Given the description of an element on the screen output the (x, y) to click on. 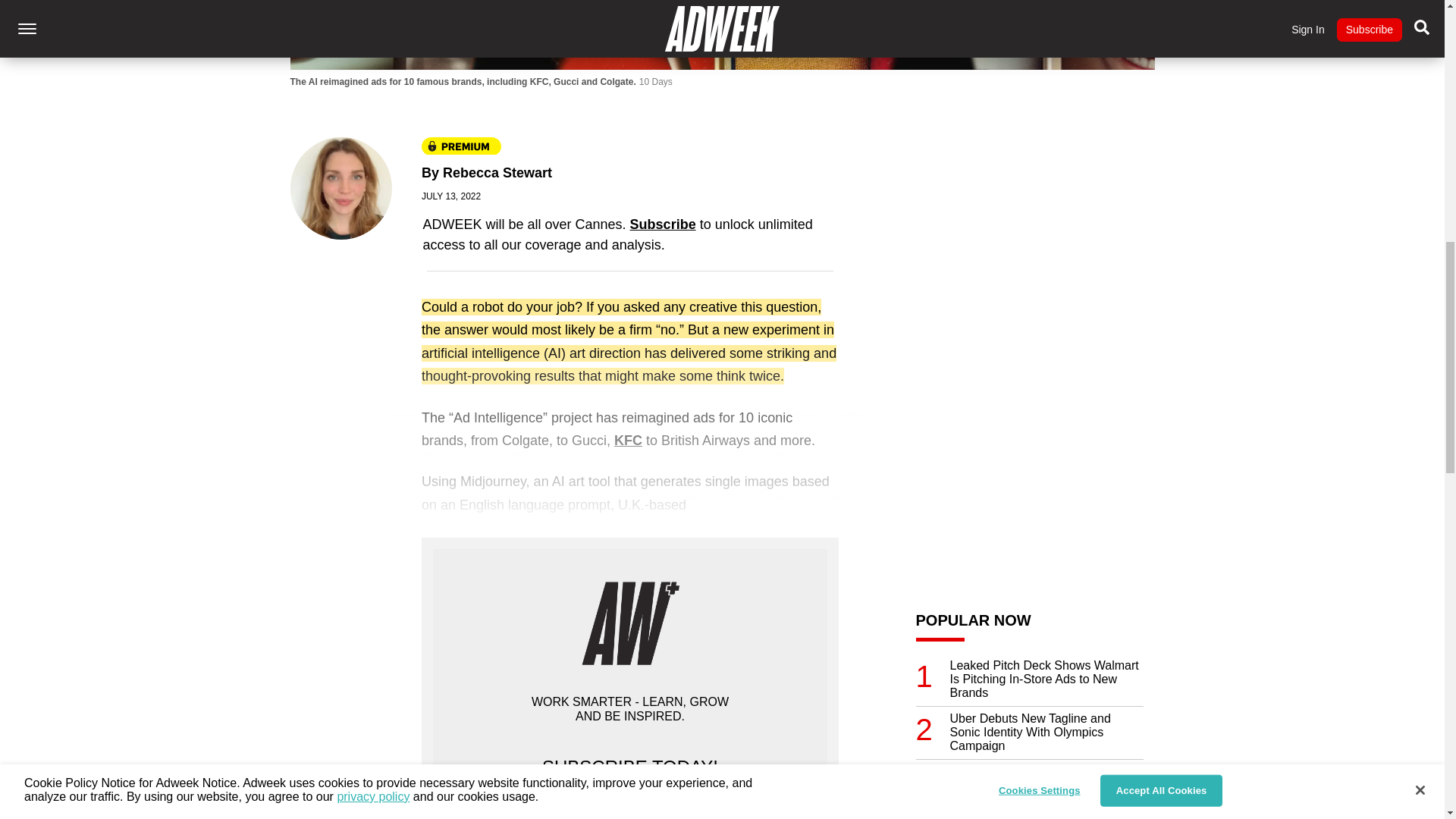
Rebecca Stewart-2022 (340, 188)
Subscribe (662, 224)
KFC (628, 440)
AI-ART-DIRECTOR (721, 34)
Rebecca Stewart (496, 172)
